Given the description of an element on the screen output the (x, y) to click on. 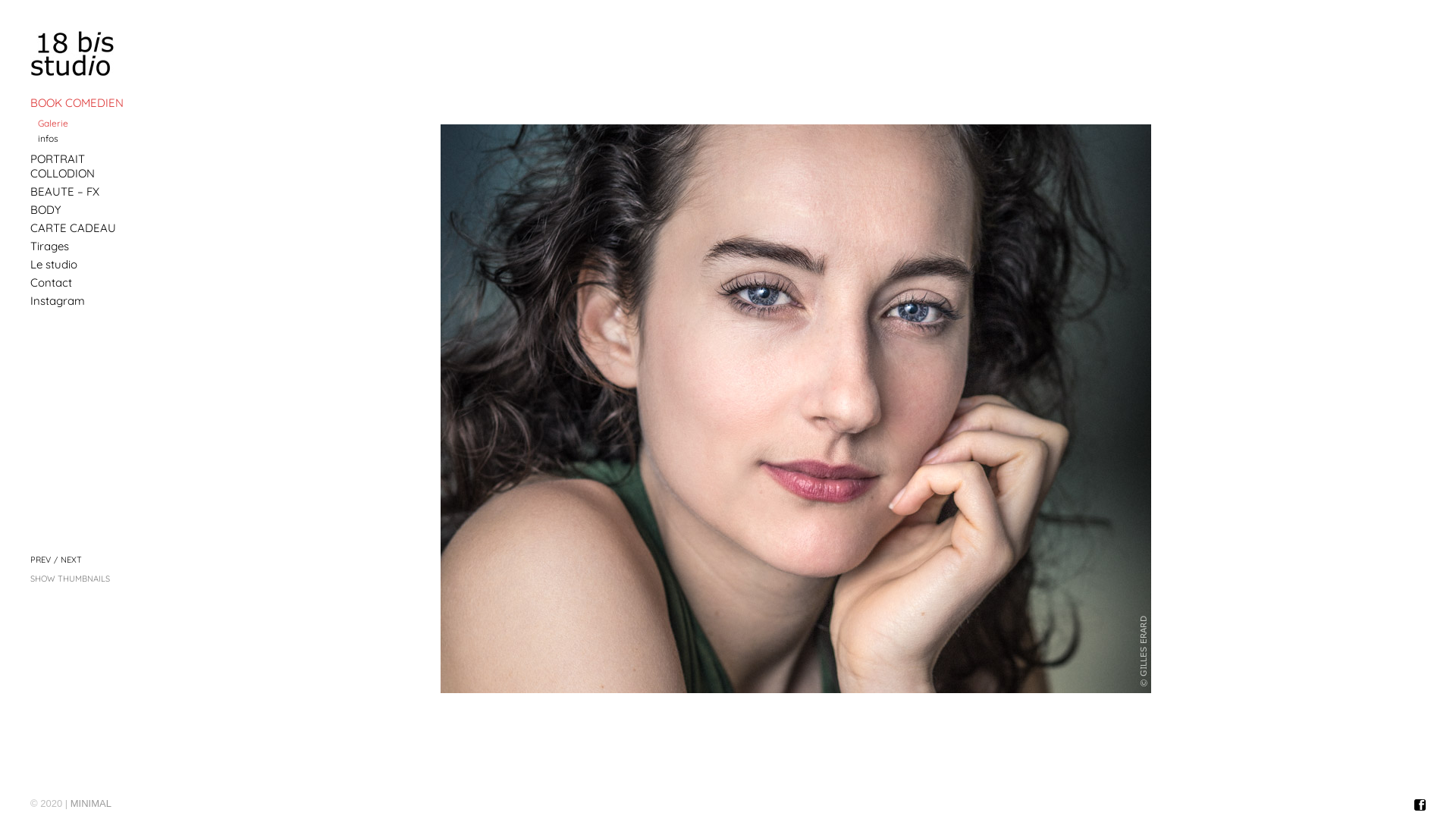
PORTRAIT COLLODION Element type: text (87, 165)
Tirages Element type: text (87, 245)
SHOW THUMBNAILS Element type: text (69, 578)
NEXT Element type: text (70, 559)
Contact Element type: text (87, 282)
PREV Element type: text (40, 559)
Facebook Element type: hover (1419, 805)
infos Element type: text (90, 138)
BOOK COMEDIEN Element type: text (87, 102)
BODY Element type: text (87, 209)
Le studio Element type: text (87, 264)
Instagram Element type: text (87, 300)
MINIMAL Element type: text (90, 803)
CARTE CADEAU Element type: text (87, 227)
Galerie Element type: text (90, 122)
